Given the description of an element on the screen output the (x, y) to click on. 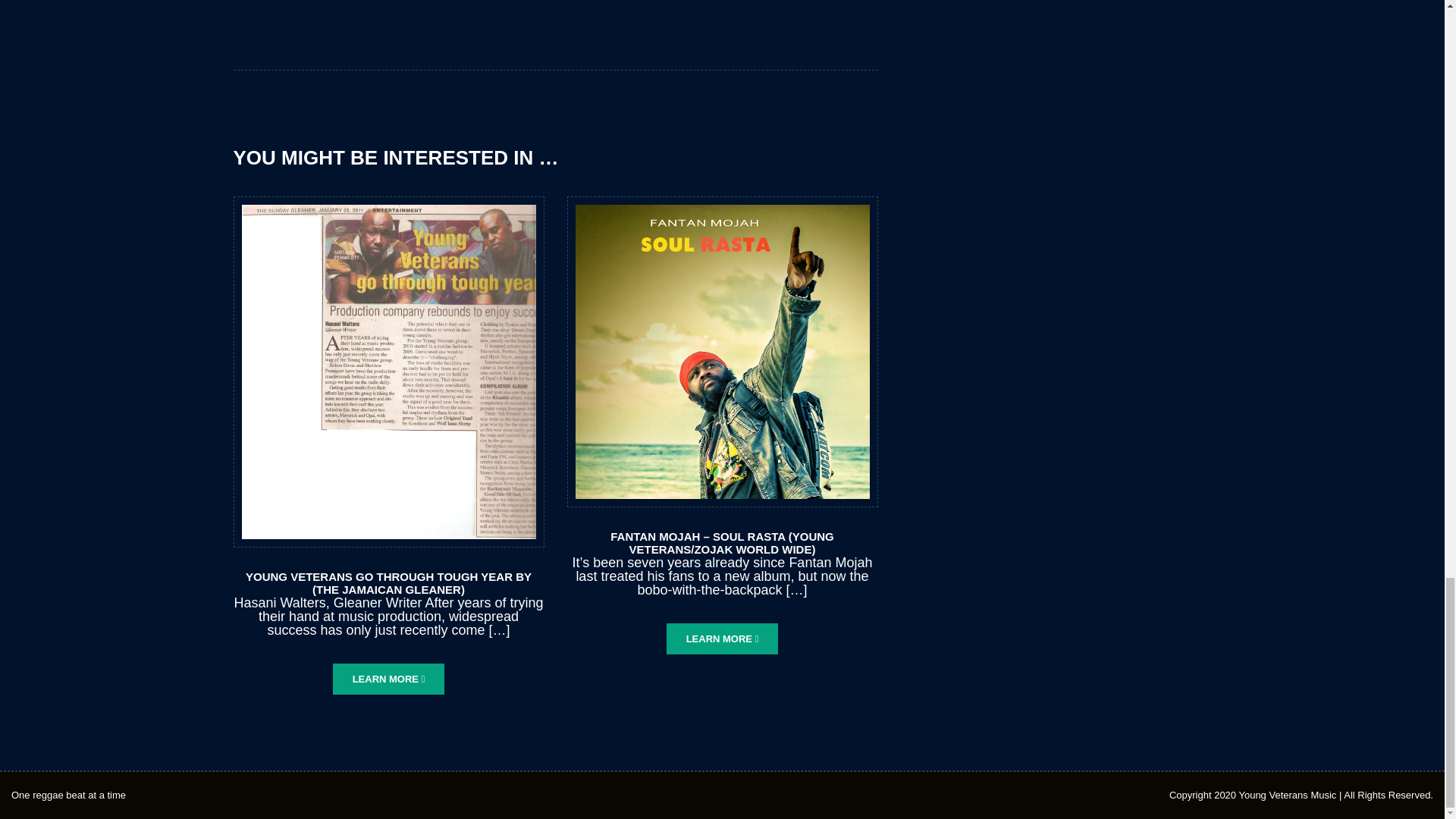
CD FRONT COVER (722, 350)
